Given the description of an element on the screen output the (x, y) to click on. 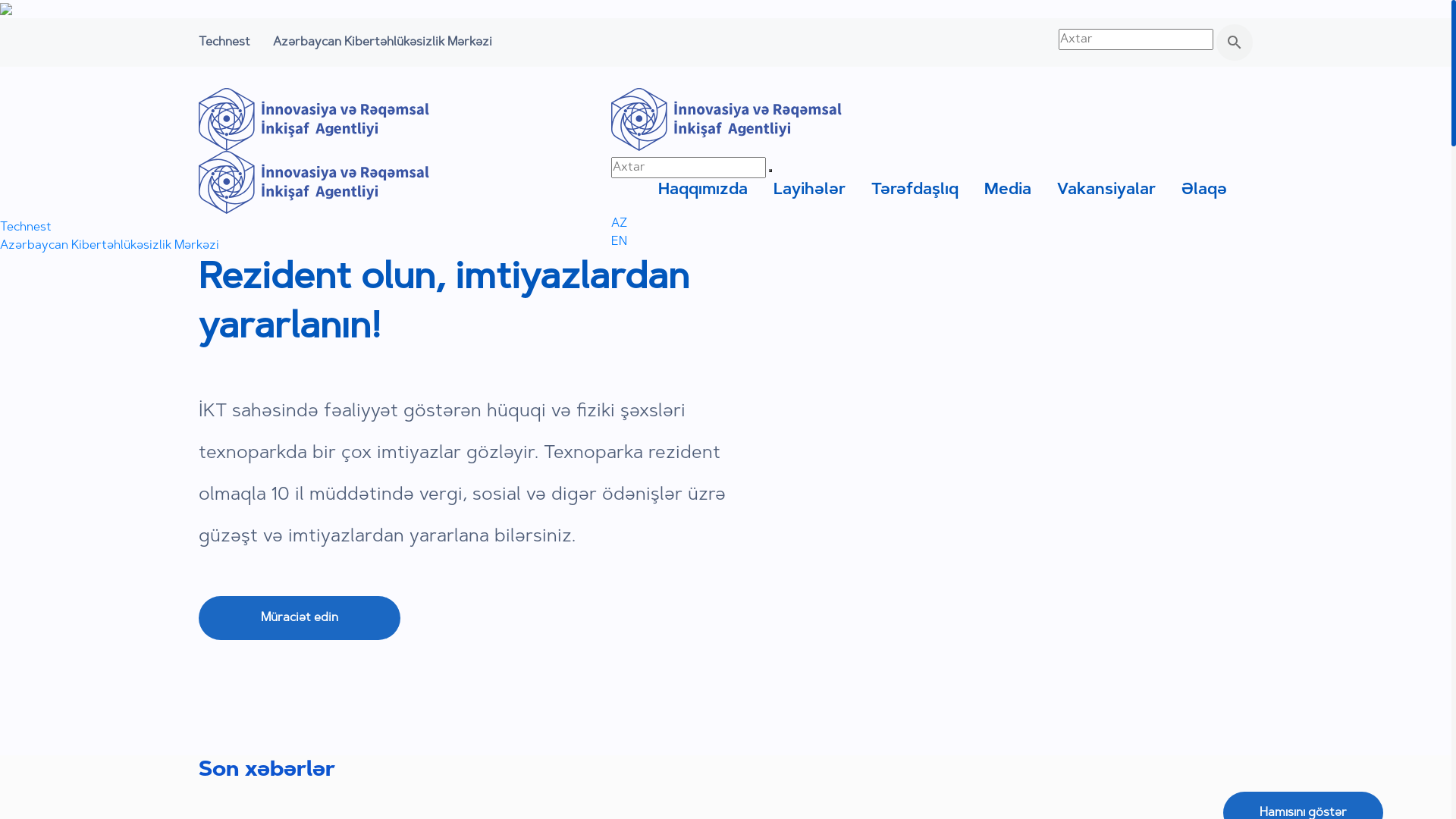
Technest Element type: text (25, 227)
logo Element type: hover (313, 181)
logo Element type: hover (726, 118)
Media Element type: text (1007, 189)
EN Element type: text (619, 241)
AZ Element type: text (619, 223)
Vakansiyalar Element type: text (1106, 189)
logo Element type: hover (313, 118)
Technest Element type: text (224, 42)
